Given the description of an element on the screen output the (x, y) to click on. 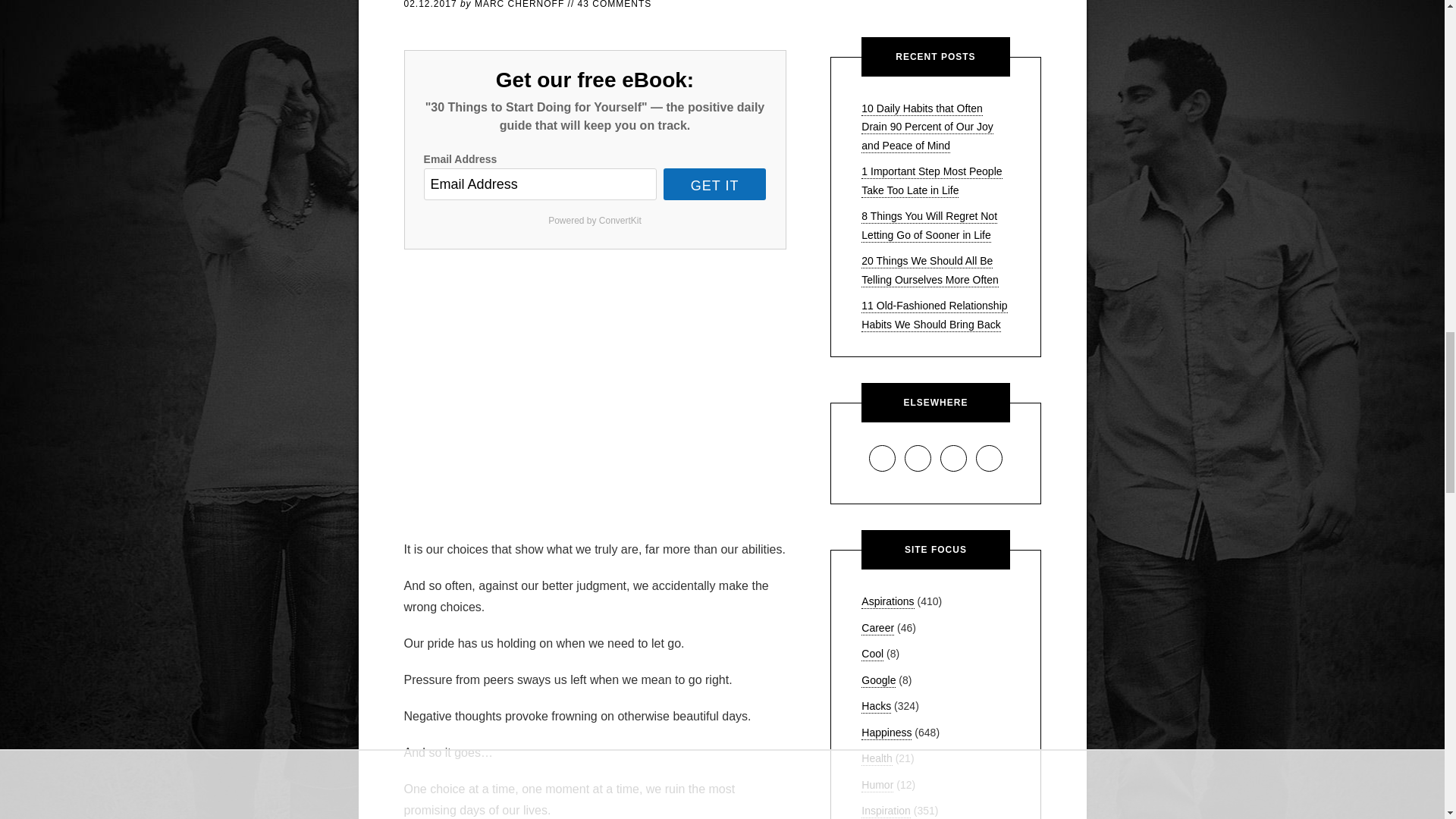
Instagram (917, 458)
Aspirations (887, 602)
Pinterest (953, 458)
Powered by ConvertKit (595, 220)
11 Old-Fashioned Relationship Habits We Should Bring Back (934, 315)
Facebook (882, 458)
43 COMMENTS (615, 4)
Pinterest (953, 458)
Career (877, 628)
GET IT (715, 183)
Facebook (881, 458)
8 Things You Will Regret Not Letting Go of Sooner in Life (929, 225)
Twitter (989, 458)
Twitter (989, 458)
